Given the description of an element on the screen output the (x, y) to click on. 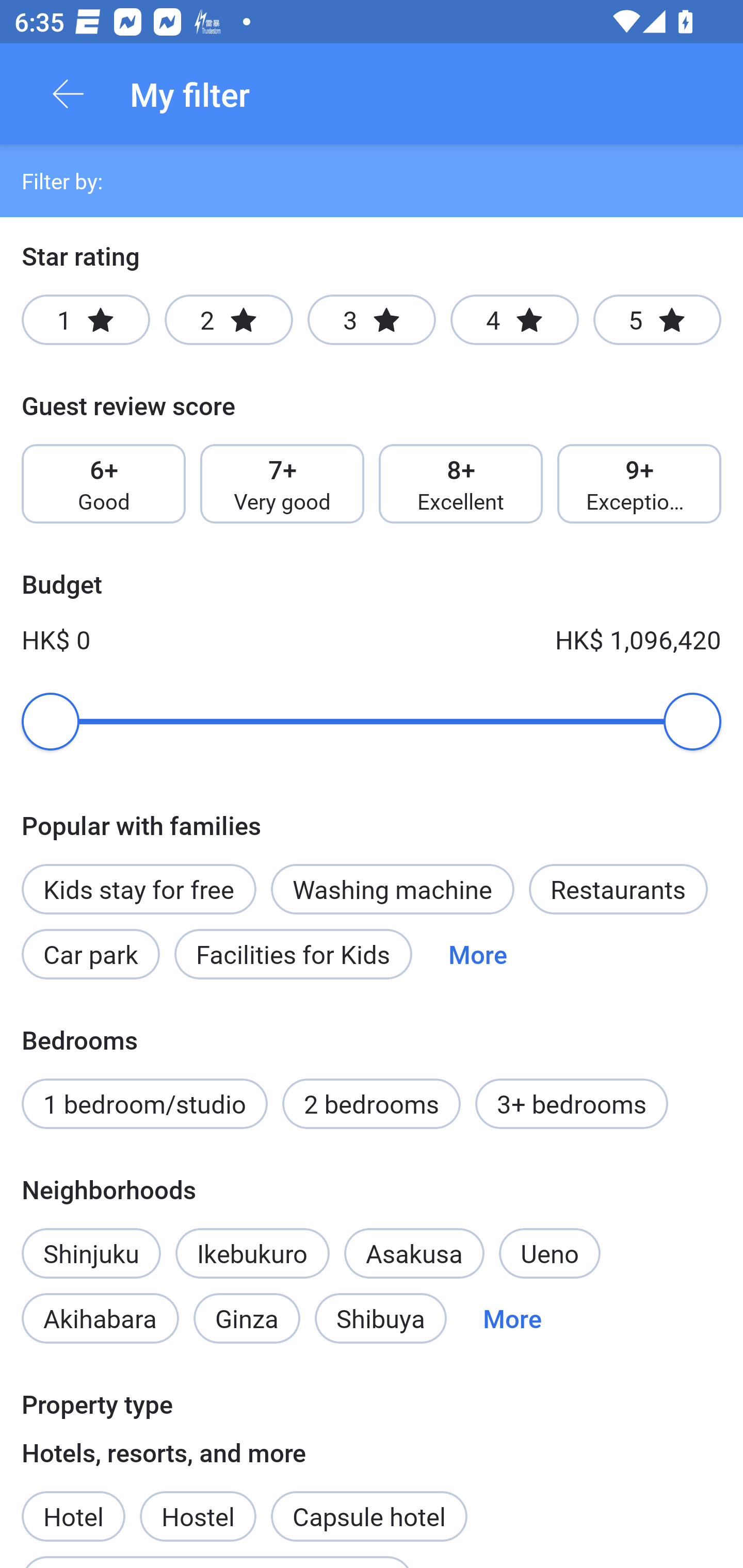
1 (85, 319)
2 (228, 319)
3 (371, 319)
4 (514, 319)
5 (657, 319)
6+ Good (103, 483)
7+ Very good (281, 483)
8+ Excellent (460, 483)
9+ Exceptional (639, 483)
Kids stay for free (138, 888)
Washing machine (392, 888)
Restaurants (618, 888)
Car park (90, 954)
Facilities for Kids (293, 954)
More (477, 954)
1 bedroom/studio (144, 1103)
2 bedrooms (371, 1103)
3+ bedrooms (571, 1103)
Shinjuku (91, 1242)
Ikebukuro (252, 1253)
Asakusa (414, 1253)
Ueno (549, 1253)
Akihabara (100, 1317)
Ginza (246, 1317)
Shibuya (380, 1317)
More (512, 1317)
Hotel (73, 1505)
Hostel (197, 1505)
Capsule hotel (369, 1516)
